Given the description of an element on the screen output the (x, y) to click on. 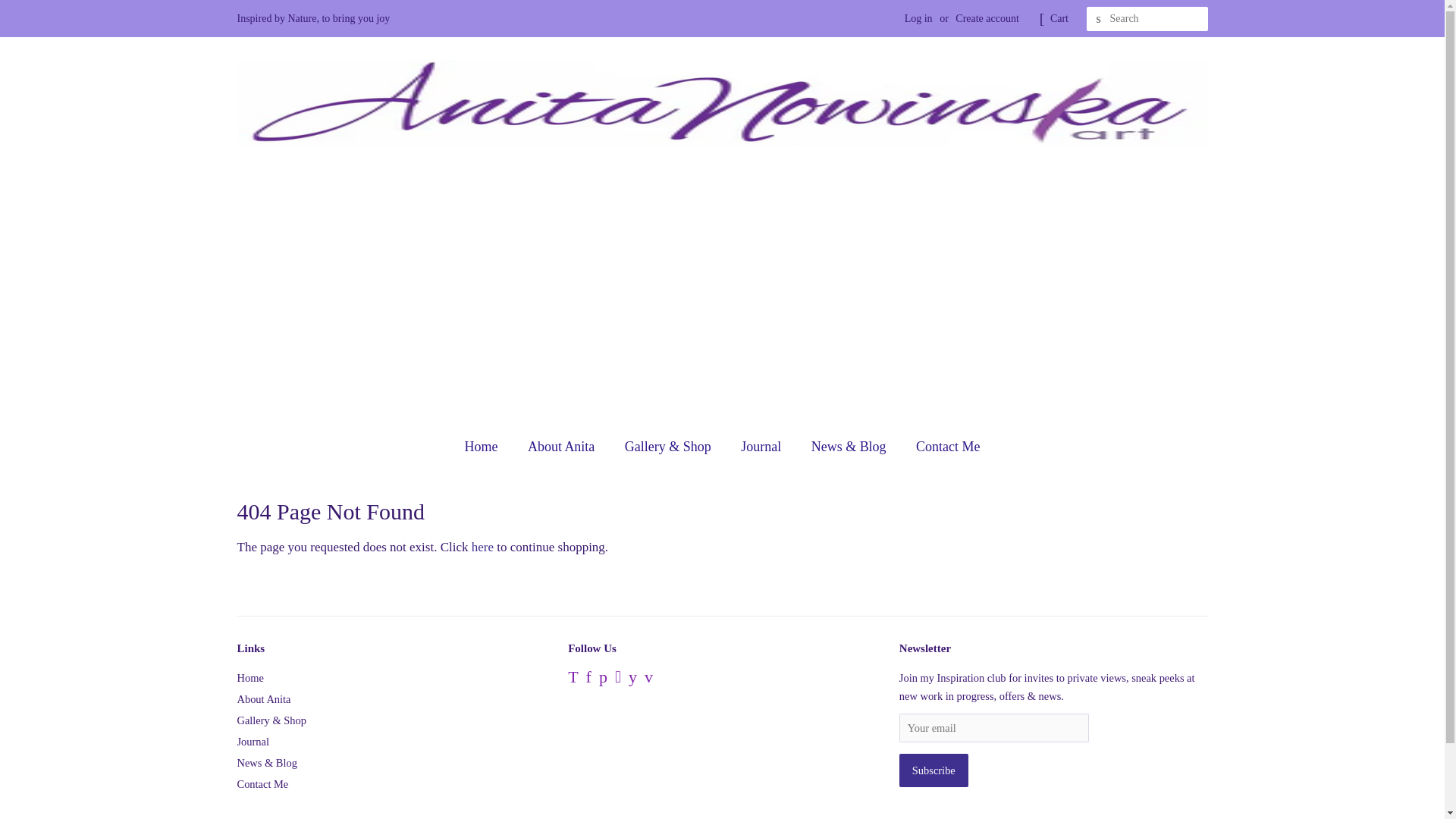
Contact Me (941, 446)
Home (488, 446)
About Anita (563, 446)
Subscribe (933, 770)
Subscribe (933, 770)
About Anita (262, 698)
Contact Me (261, 784)
Create account (987, 18)
Journal (252, 741)
Log in (918, 18)
Search (1097, 18)
Cart (1058, 18)
here (482, 546)
Home (249, 677)
Journal (762, 446)
